Given the description of an element on the screen output the (x, y) to click on. 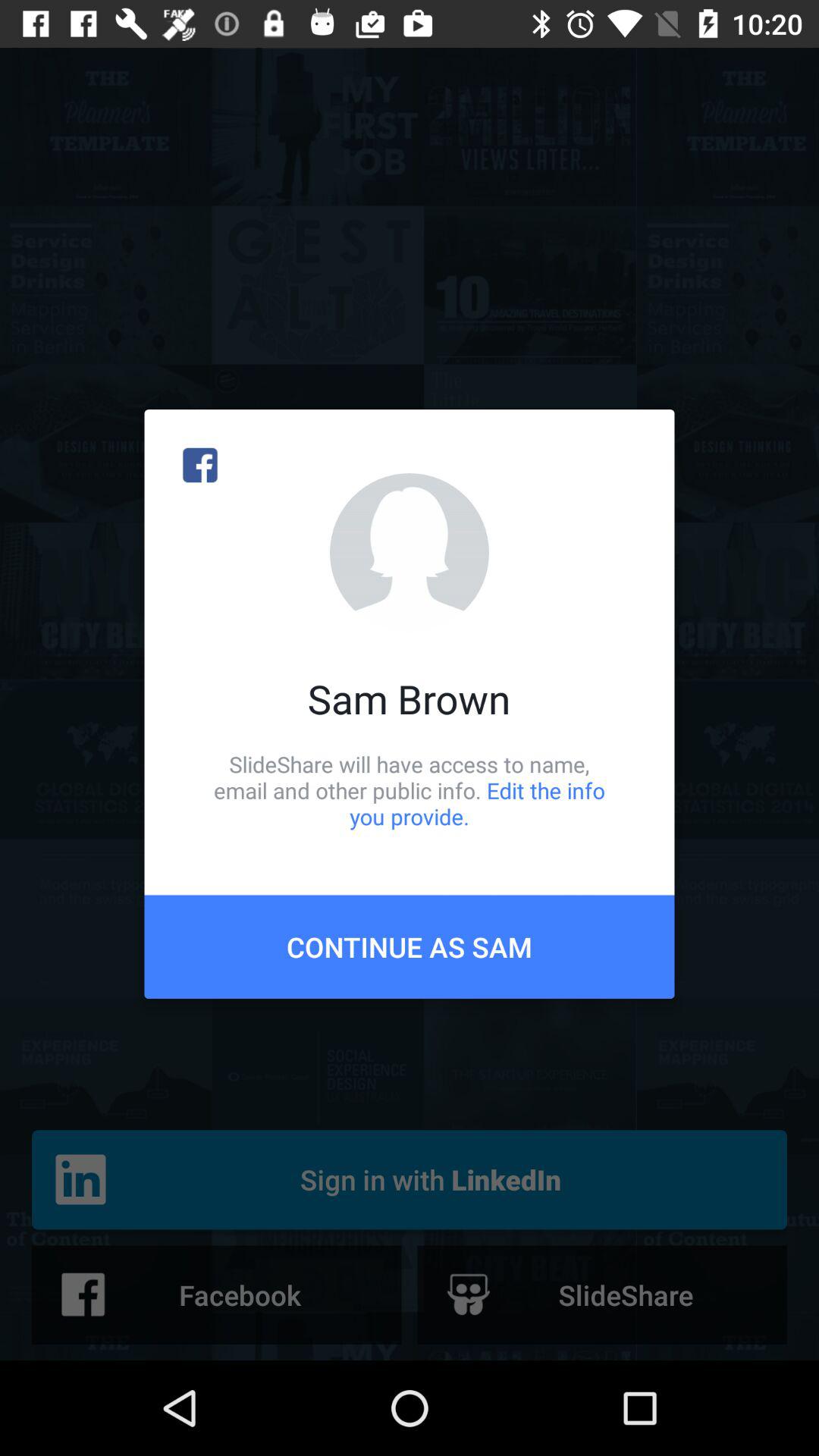
swipe to continue as sam icon (409, 946)
